Given the description of an element on the screen output the (x, y) to click on. 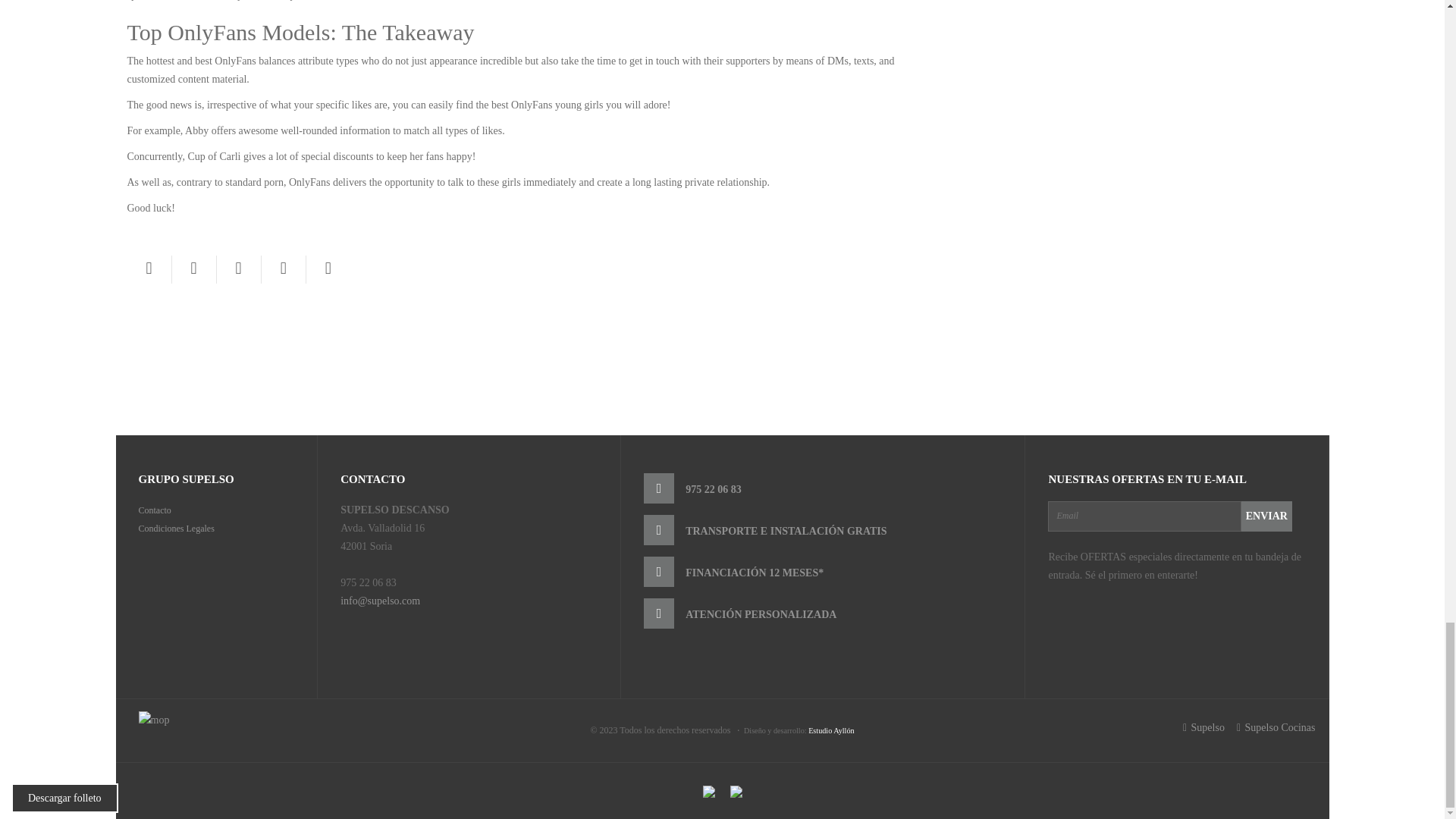
Enviar (1266, 515)
Supelso Cocinas (1275, 727)
LinkedIn (327, 268)
Supelso (1203, 727)
Supelso Cocinas (1275, 727)
Enviar (1266, 515)
Pinterest (238, 268)
Facebook (149, 268)
Facebook Supelso (1203, 727)
Contacto (154, 510)
